Given the description of an element on the screen output the (x, y) to click on. 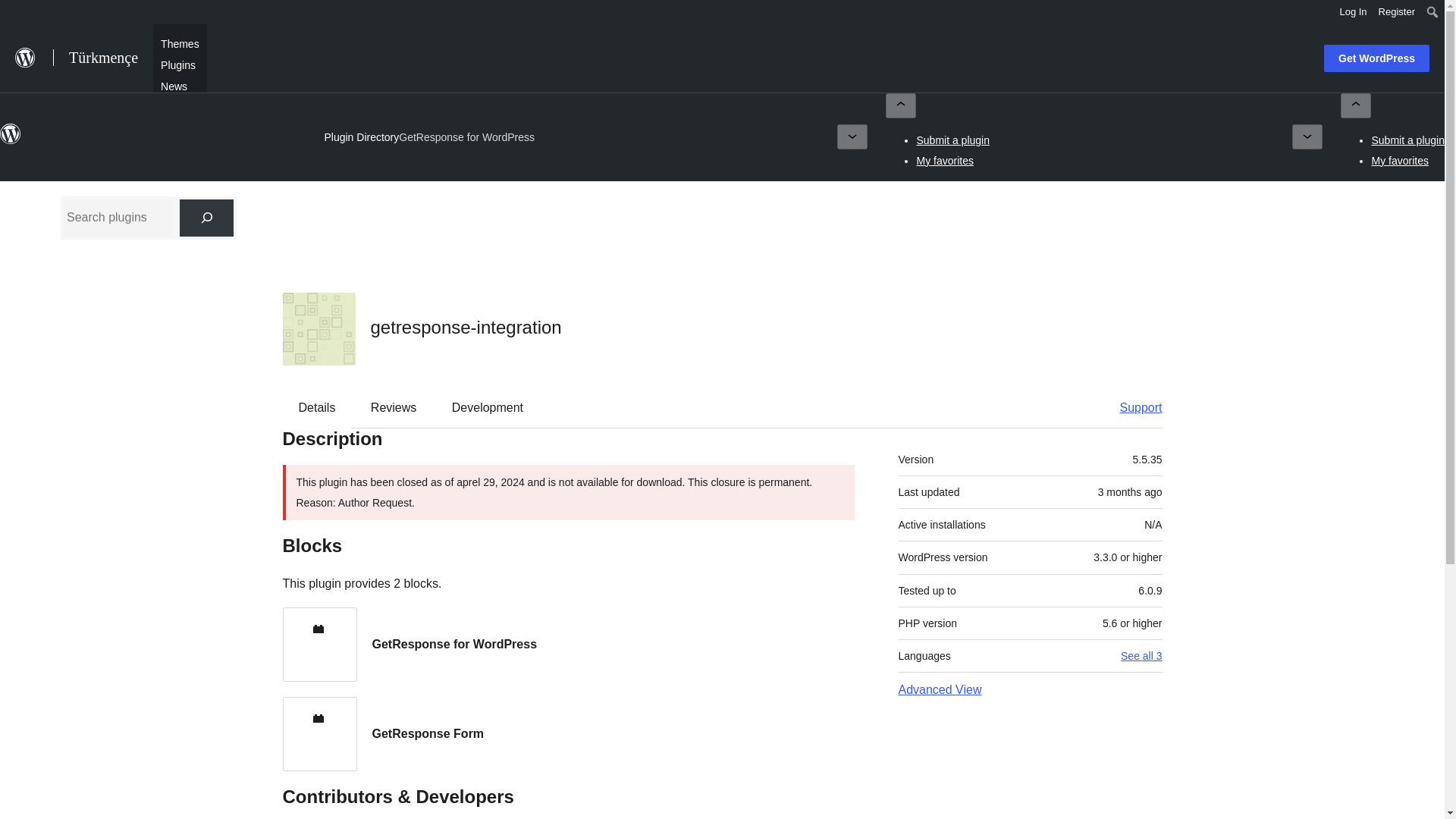
Themes (179, 42)
News (173, 84)
Plugin Directory (360, 137)
Plugins (177, 63)
Submit a plugin (952, 140)
About (174, 105)
GetResponse for WordPress (466, 137)
WordPress.org (10, 141)
Register (1397, 12)
Search (16, 13)
Get WordPress (1376, 58)
Contact (178, 127)
Reviews (392, 407)
My favorites (1399, 160)
